Given the description of an element on the screen output the (x, y) to click on. 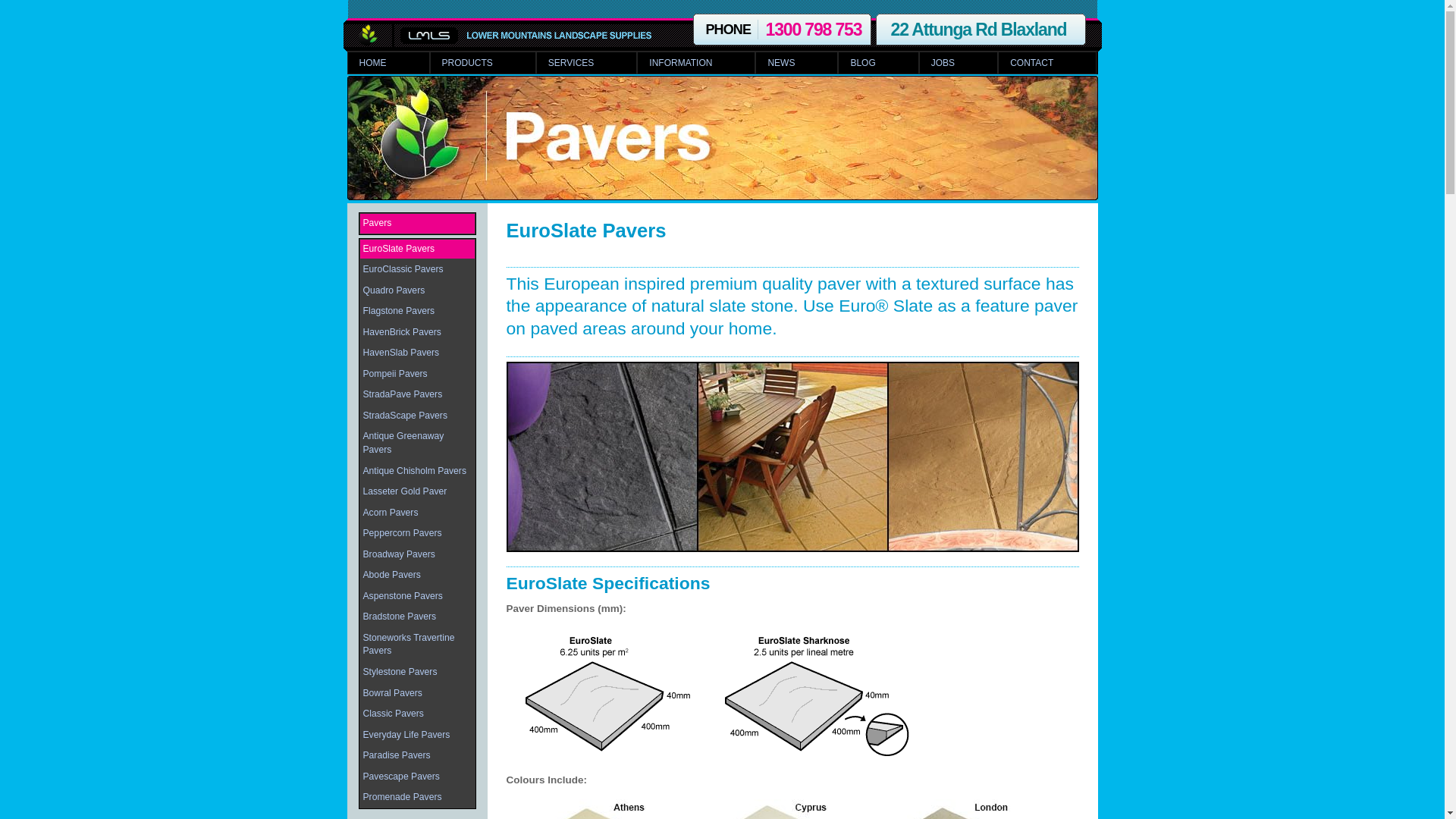
Everyday Life Pavers Element type: text (416, 735)
Stylestone Pavers Element type: text (416, 672)
Pompeii Pavers Element type: text (416, 374)
Flagstone Pavers Element type: text (416, 311)
HOME Element type: text (388, 62)
EuroSlate Pavers Element type: text (586, 230)
BLOG Element type: text (877, 62)
NEWS Element type: text (796, 62)
Dotted_Line_Divider_Blue_V1 Element type: hover (792, 566)
INFORMATION Element type: text (696, 62)
Antique Chisholm Pavers Element type: text (416, 471)
PRODUCTS Element type: text (482, 62)
Dotted_Line_Divider_Blue_V1 Element type: hover (792, 267)
Aspenstone Pavers Element type: text (416, 596)
HavenSlab Pavers Element type: text (416, 353)
1300 798 753 Element type: text (813, 29)
CONTACT Element type: text (1046, 62)
Pavescape Pavers Element type: text (416, 777)
JOBS Element type: text (958, 62)
Antique Greenaway Pavers Element type: text (416, 442)
Promenade Pavers Element type: text (416, 797)
Quadro Pavers Element type: text (416, 291)
Pavers Element type: text (416, 223)
EuroClassic Pavers Element type: text (416, 269)
Peppercorn Pavers Element type: text (416, 533)
Bradstone Pavers Element type: text (416, 617)
Paradise Pavers Element type: text (416, 755)
StradaScape Pavers Element type: text (416, 416)
Abode Pavers Element type: text (416, 575)
Dotted_Line_Divider_Blue_V1 Element type: hover (792, 356)
Classic Pavers Element type: text (416, 714)
StradaPave Pavers Element type: text (416, 394)
Acorn Pavers Element type: text (416, 513)
Broadway Pavers Element type: text (416, 554)
Stoneworks Travertine Pavers Element type: text (416, 644)
Bowral Pavers Element type: text (416, 693)
EuroSlate Pavers Element type: text (416, 249)
SERVICES Element type: text (586, 62)
HavenBrick Pavers Element type: text (416, 332)
Lasseter Gold Paver Element type: text (416, 492)
